Given the description of an element on the screen output the (x, y) to click on. 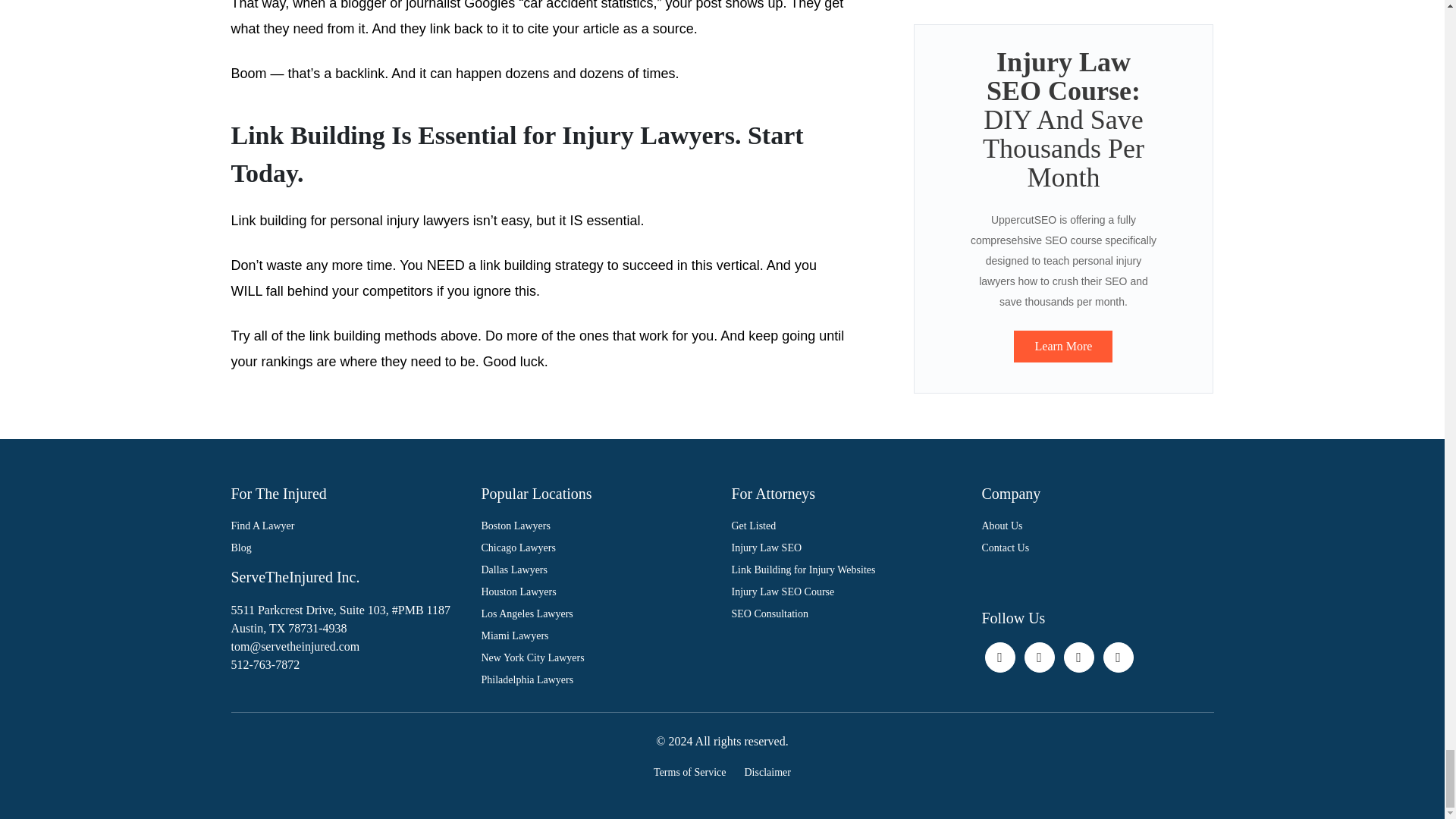
Find A Lawyer (346, 525)
